Given the description of an element on the screen output the (x, y) to click on. 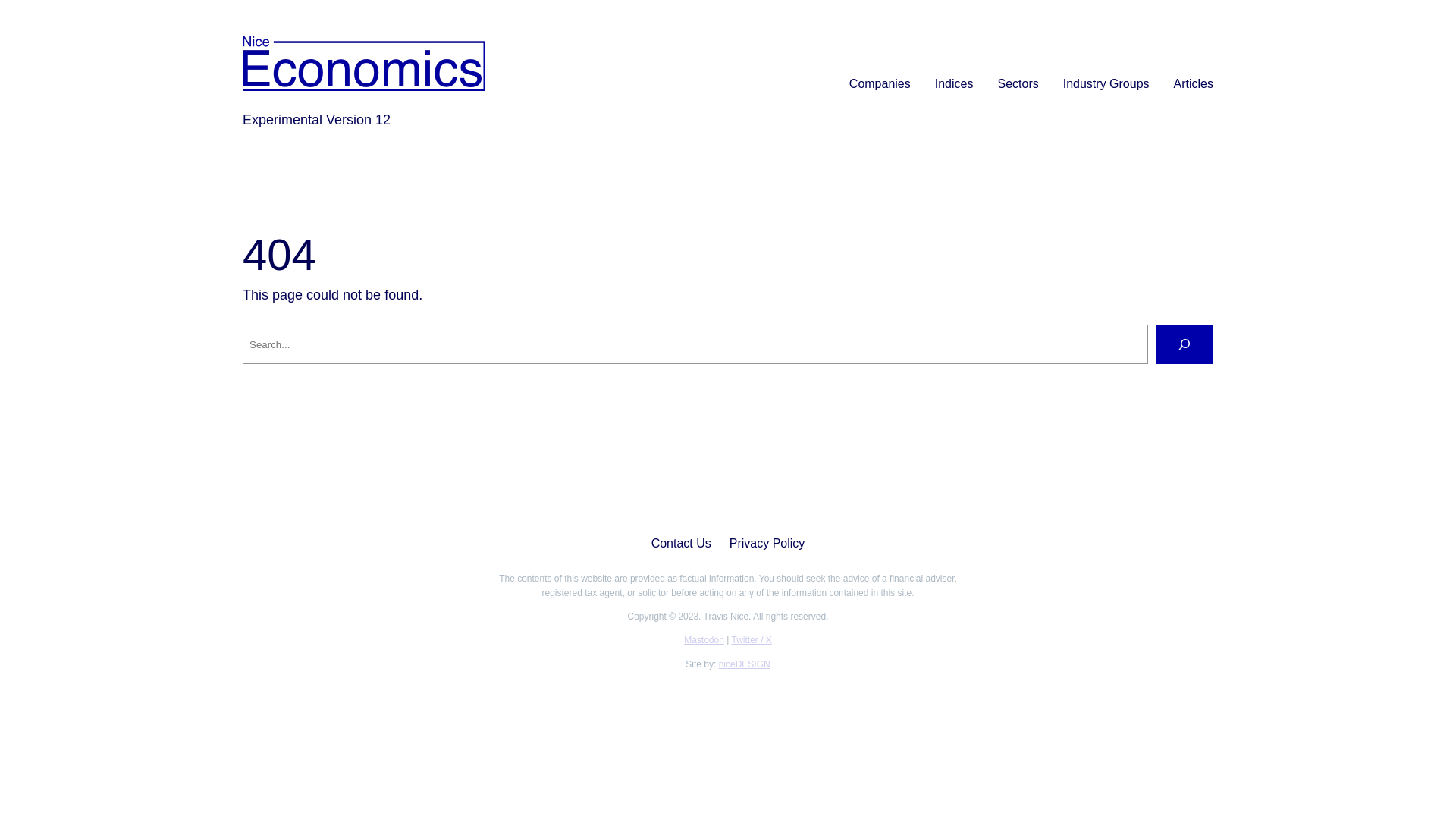
Sectors Element type: text (1017, 84)
Industry Groups Element type: text (1106, 84)
Privacy Policy Element type: text (767, 543)
Articles Element type: text (1193, 84)
Mastodon Element type: text (704, 639)
niceDESIGN Element type: text (744, 663)
Contact Us Element type: text (681, 543)
Indices Element type: text (954, 84)
Twitter / X Element type: text (751, 639)
Companies Element type: text (879, 84)
